Given the description of an element on the screen output the (x, y) to click on. 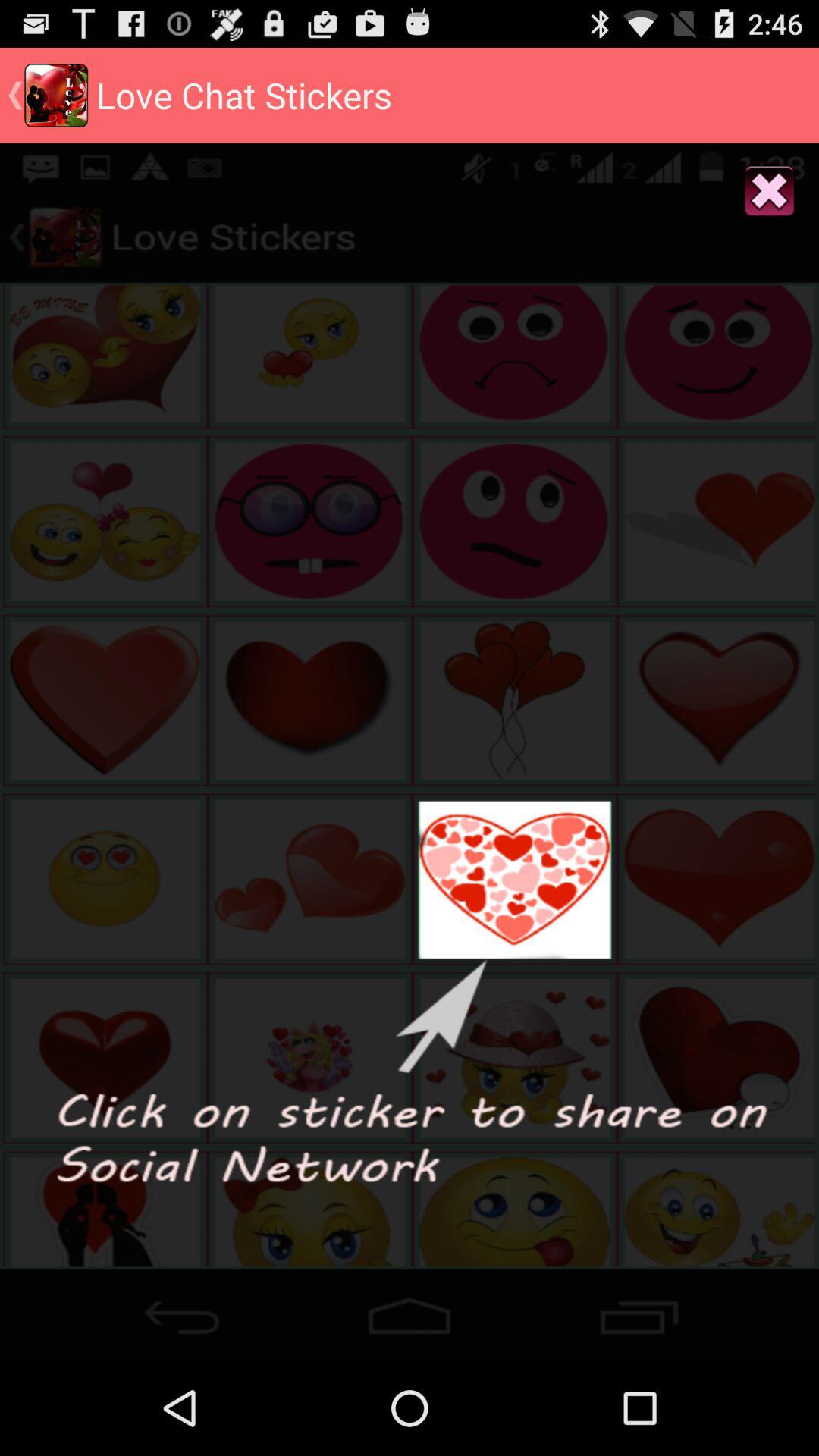
home row back home active apps (409, 1310)
